Given the description of an element on the screen output the (x, y) to click on. 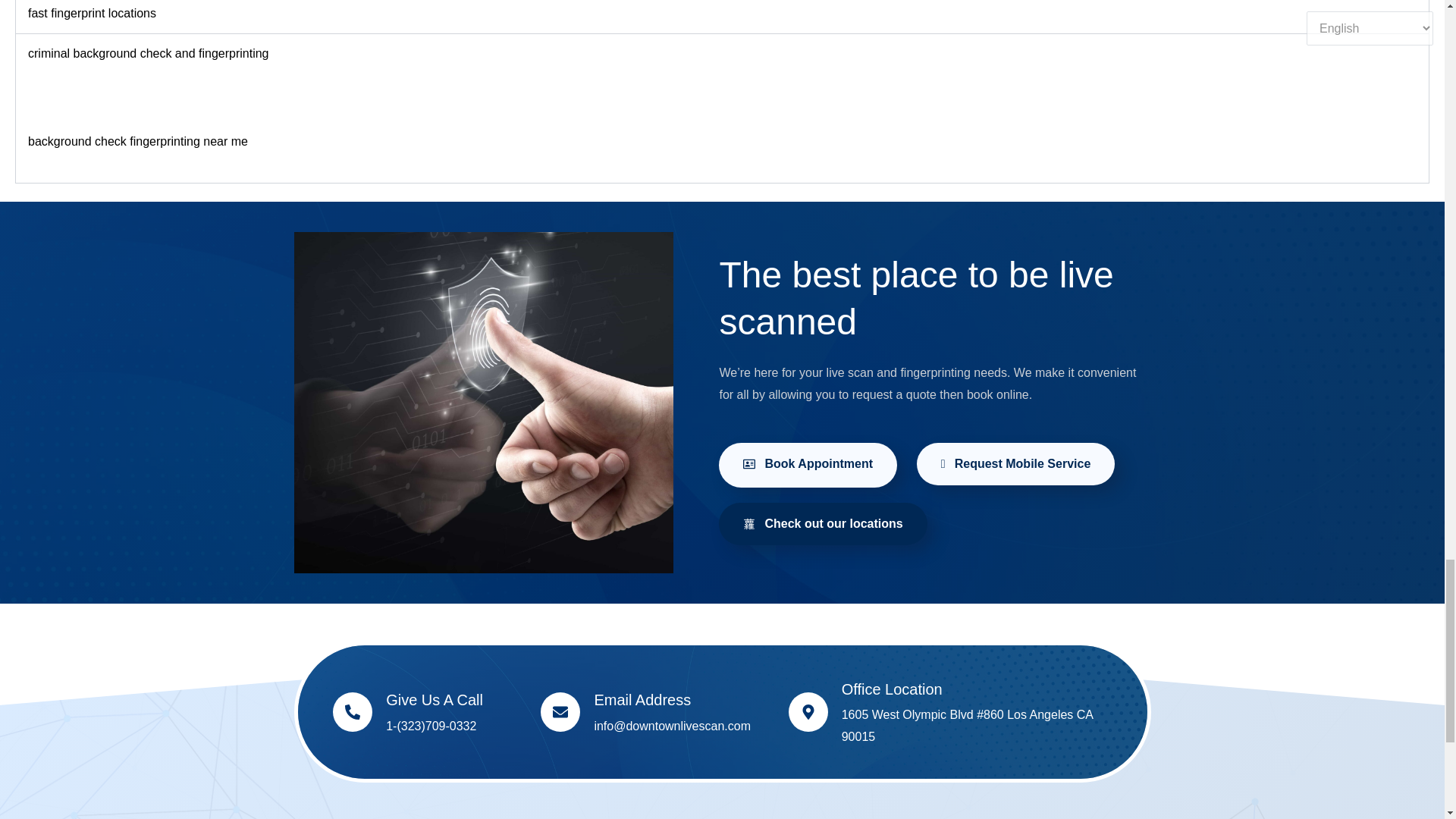
Give Us A Call (434, 699)
Book Appointment (807, 465)
Request Mobile Service (1016, 464)
Check out our locations (822, 523)
Email Address (642, 699)
